Given the description of an element on the screen output the (x, y) to click on. 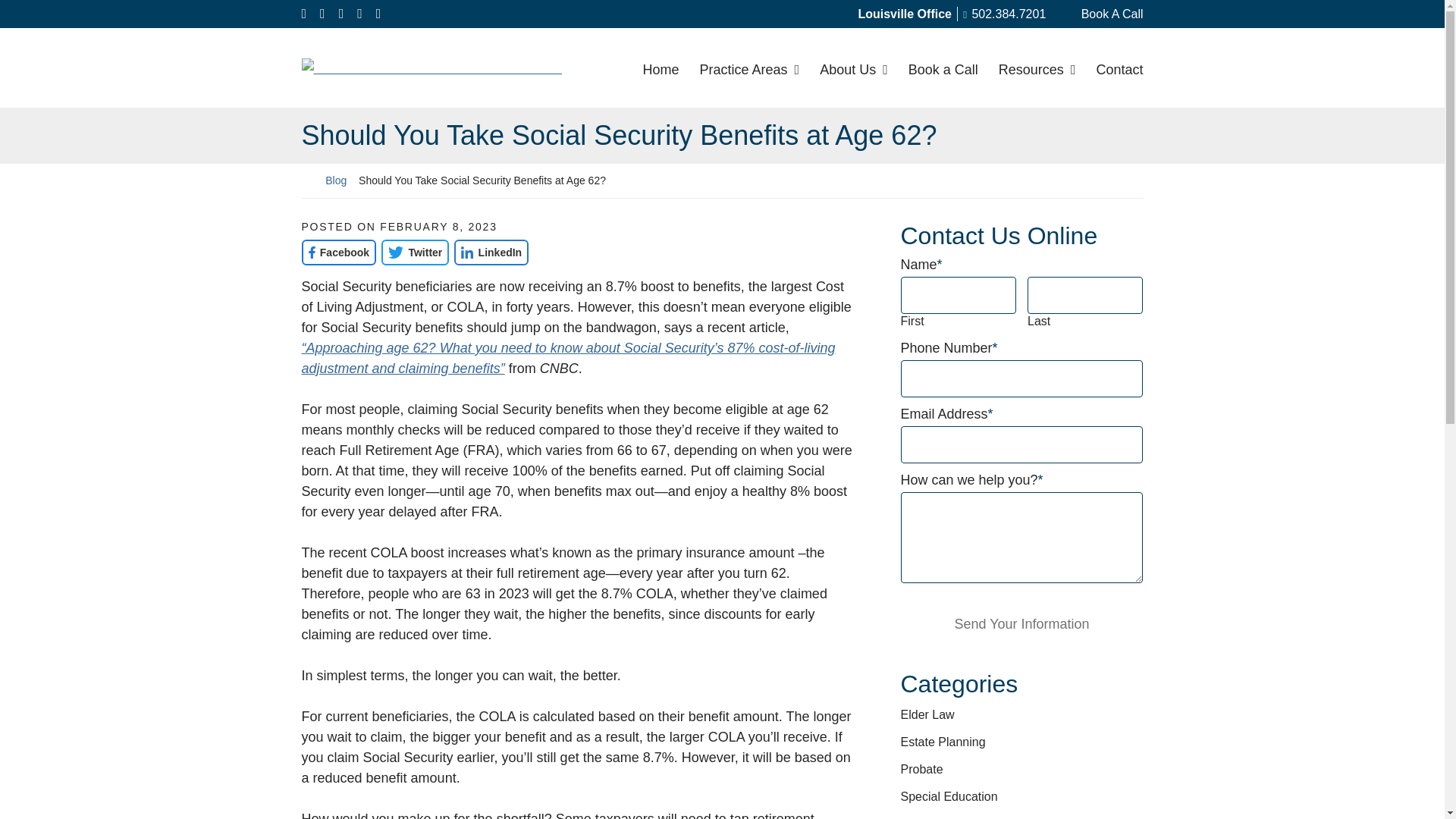
Return home (434, 67)
About Us (853, 67)
Elder Law (928, 714)
Resources (1036, 67)
LinkedIn (491, 251)
Home (660, 67)
Book A Call (1101, 13)
Book a Call (942, 67)
Blog (951, 13)
